Given the description of an element on the screen output the (x, y) to click on. 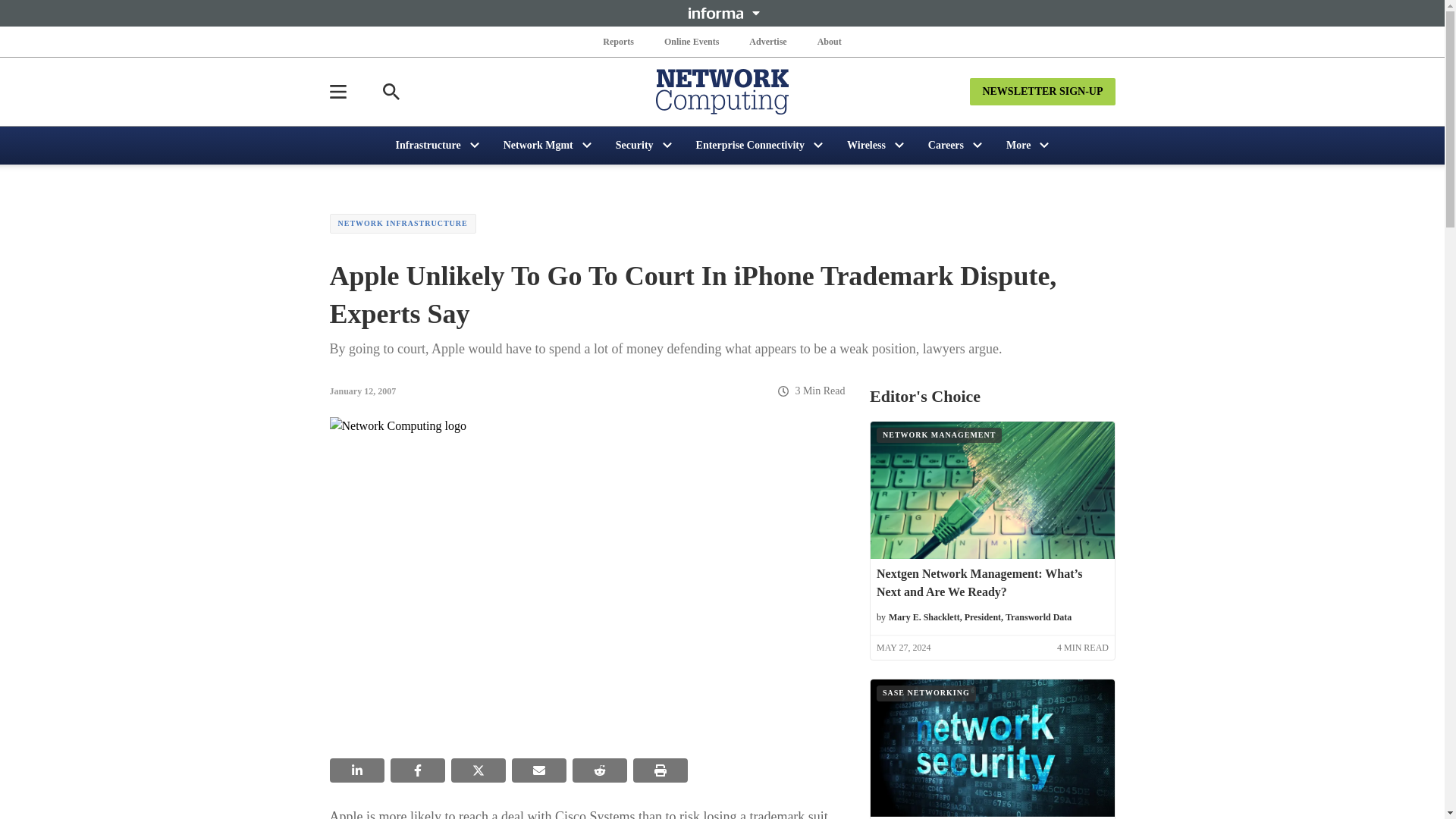
Network Computing Logo (722, 91)
Online Events (691, 41)
NEWSLETTER SIGN-UP (1042, 90)
About (828, 41)
Advertise (767, 41)
Reports (618, 41)
